Given the description of an element on the screen output the (x, y) to click on. 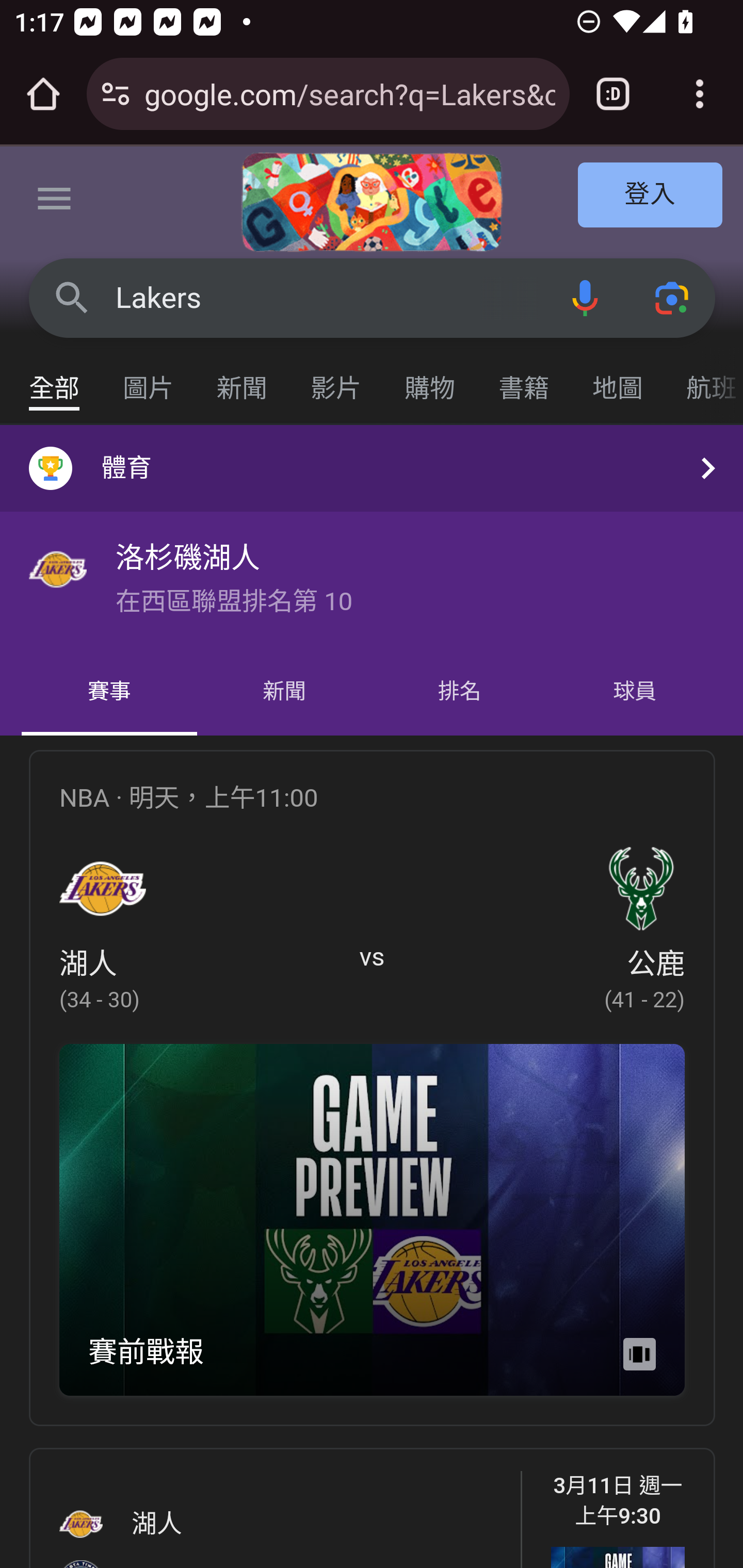
Open the home page (43, 93)
Connection is secure (115, 93)
Switch or close tabs (612, 93)
Customize and control Google Chrome (699, 93)
2024 年國際婦女節 (371, 202)
主選單 (54, 202)
登入 (650, 195)
Google 搜尋 (71, 296)
使用相機或相片搜尋 (672, 296)
Lakers (328, 297)
圖片 (148, 378)
新聞 (242, 378)
影片 (336, 378)
購物 (430, 378)
書籍 (524, 378)
地圖 (618, 378)
航班 (703, 378)
體育 洛杉磯湖人 在西區聯盟排名第 10 體育 洛杉磯湖人 在西區聯盟排名第 10 (371, 536)
體育 (371, 467)
賽事 (109, 691)
新聞 (283, 691)
排名 (460, 691)
球員 (634, 691)
